Given the description of an element on the screen output the (x, y) to click on. 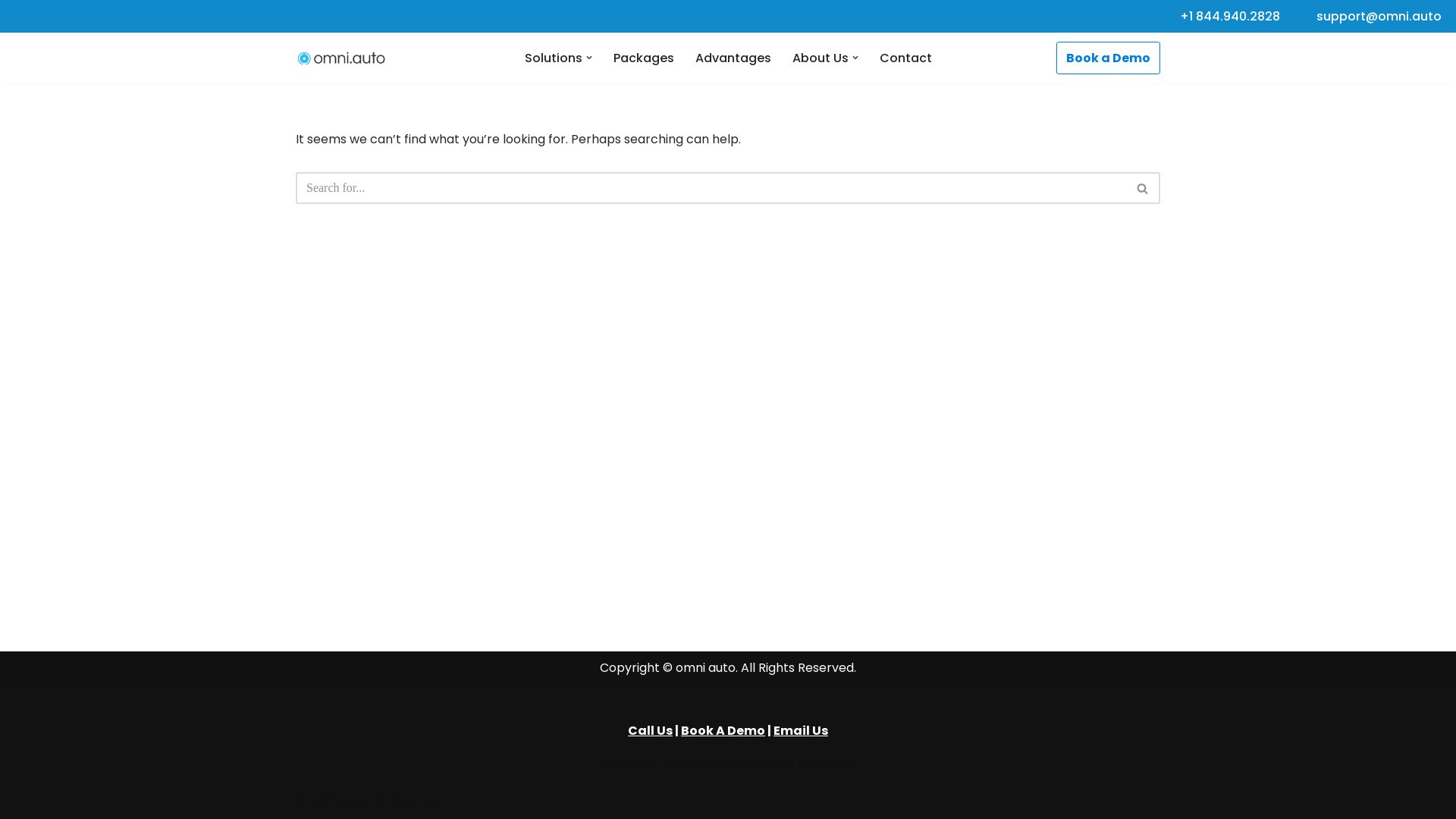
WordPress Element type: text (416, 799)
Skip to content Element type: text (11, 31)
support@omni.auto Element type: text (1378, 16)
Packages Element type: text (642, 57)
+1 844.940.2828 Element type: text (1229, 16)
About Us Element type: text (819, 57)
Neve Element type: text (308, 799)
Advantages Element type: text (732, 57)
Email Us Element type: text (800, 730)
Solutions Element type: text (553, 57)
Call Us Element type: text (649, 730)
Book a Demo Element type: text (1108, 58)
Contact Element type: text (905, 57)
Book A Demo Element type: text (722, 730)
